Given the description of an element on the screen output the (x, y) to click on. 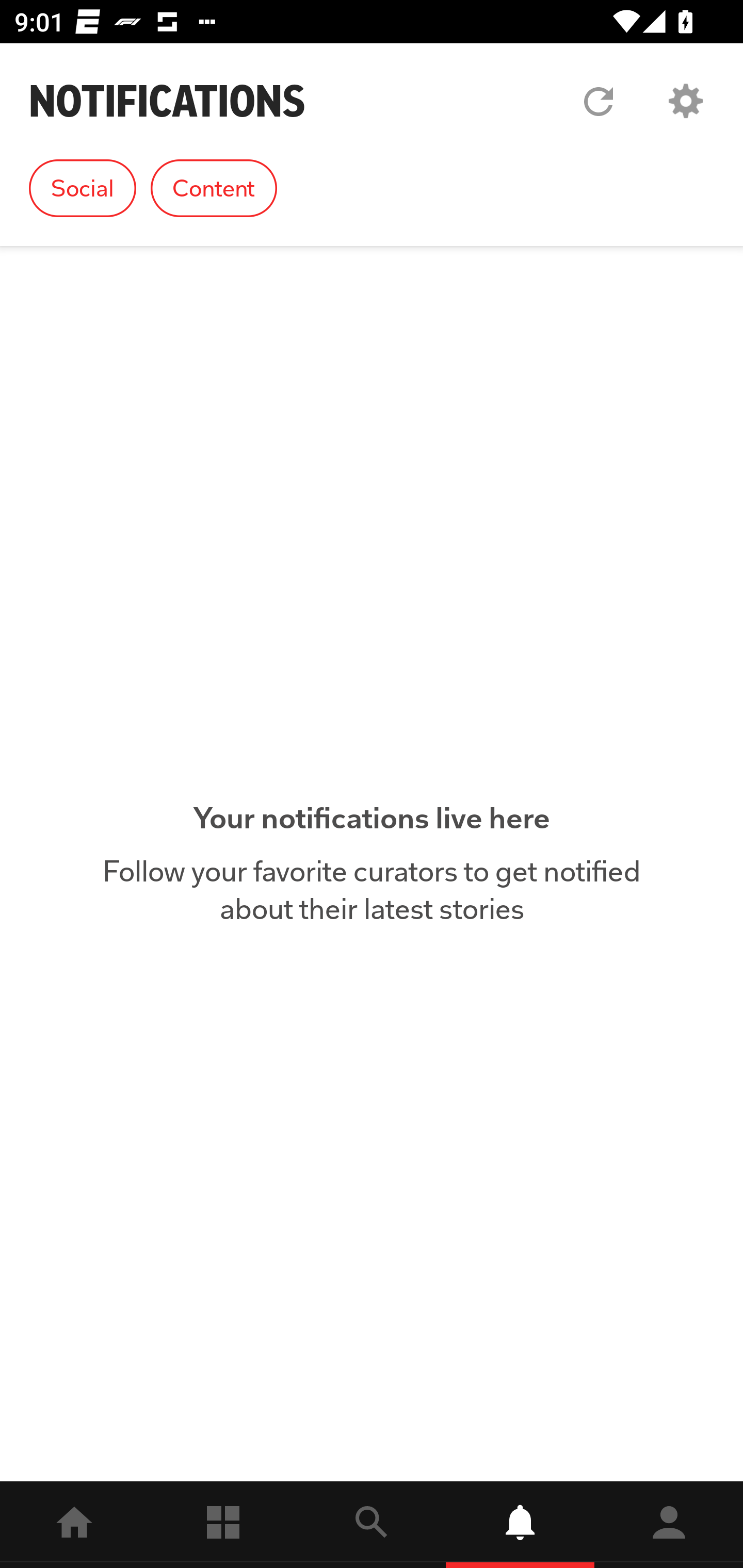
Settings (684, 101)
Social (81, 188)
Content (213, 188)
home (74, 1524)
Following (222, 1524)
explore (371, 1524)
Notifications (519, 1524)
Profile (668, 1524)
